Given the description of an element on the screen output the (x, y) to click on. 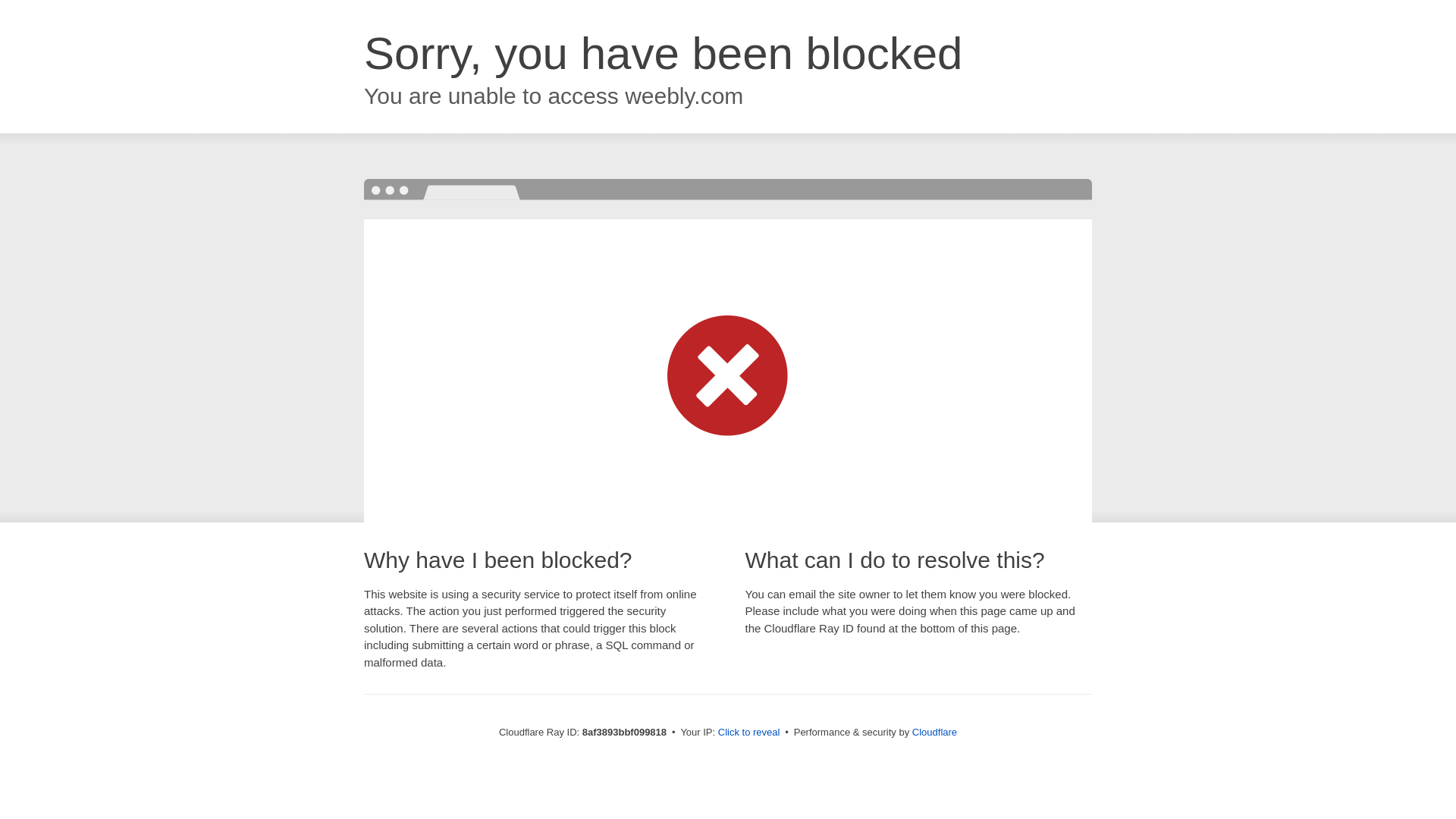
Click to reveal (748, 732)
Cloudflare (934, 731)
